Given the description of an element on the screen output the (x, y) to click on. 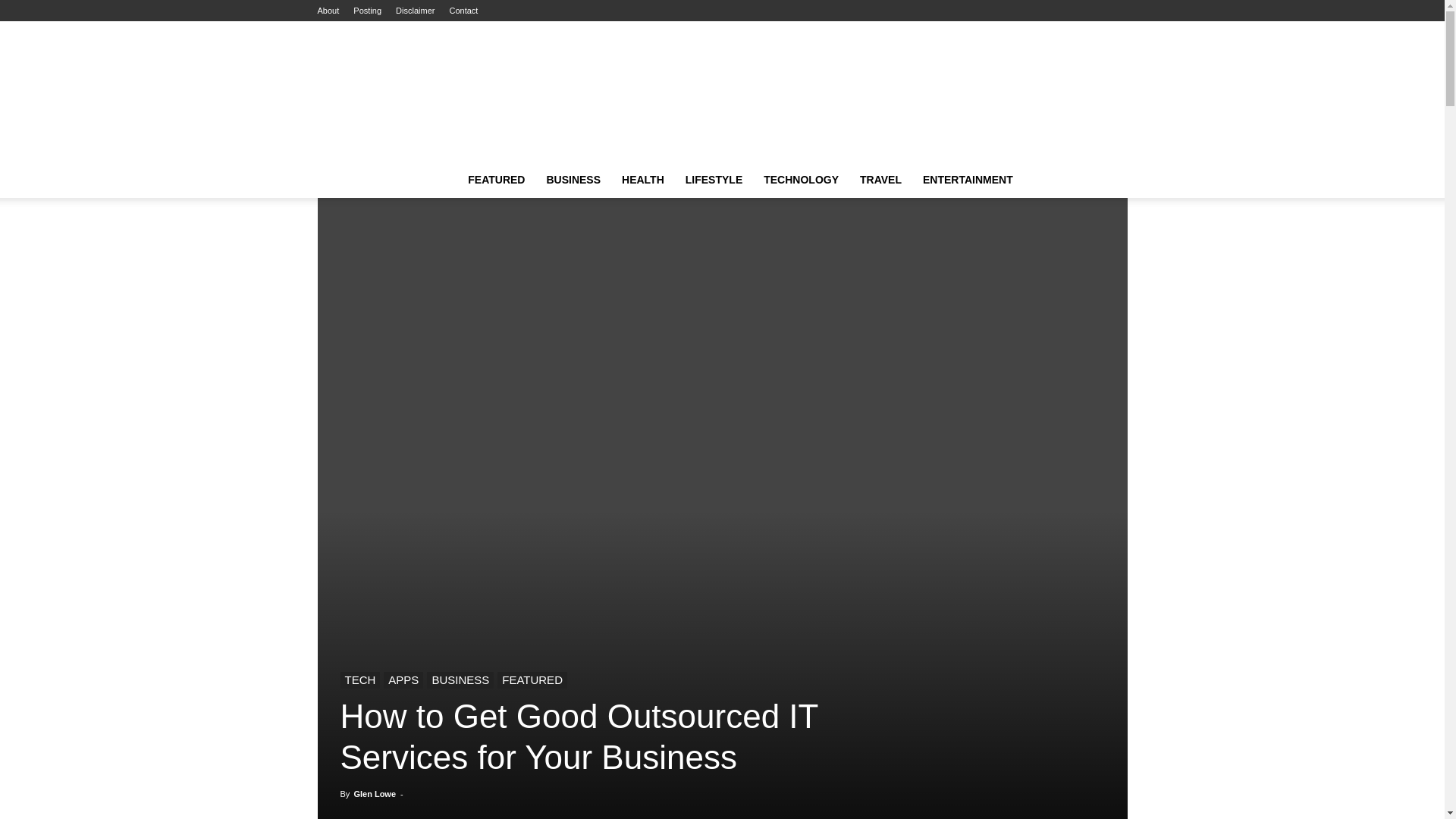
LIFESTYLE (713, 179)
elmenslogo (721, 91)
CATEGORIES (496, 179)
